Given the description of an element on the screen output the (x, y) to click on. 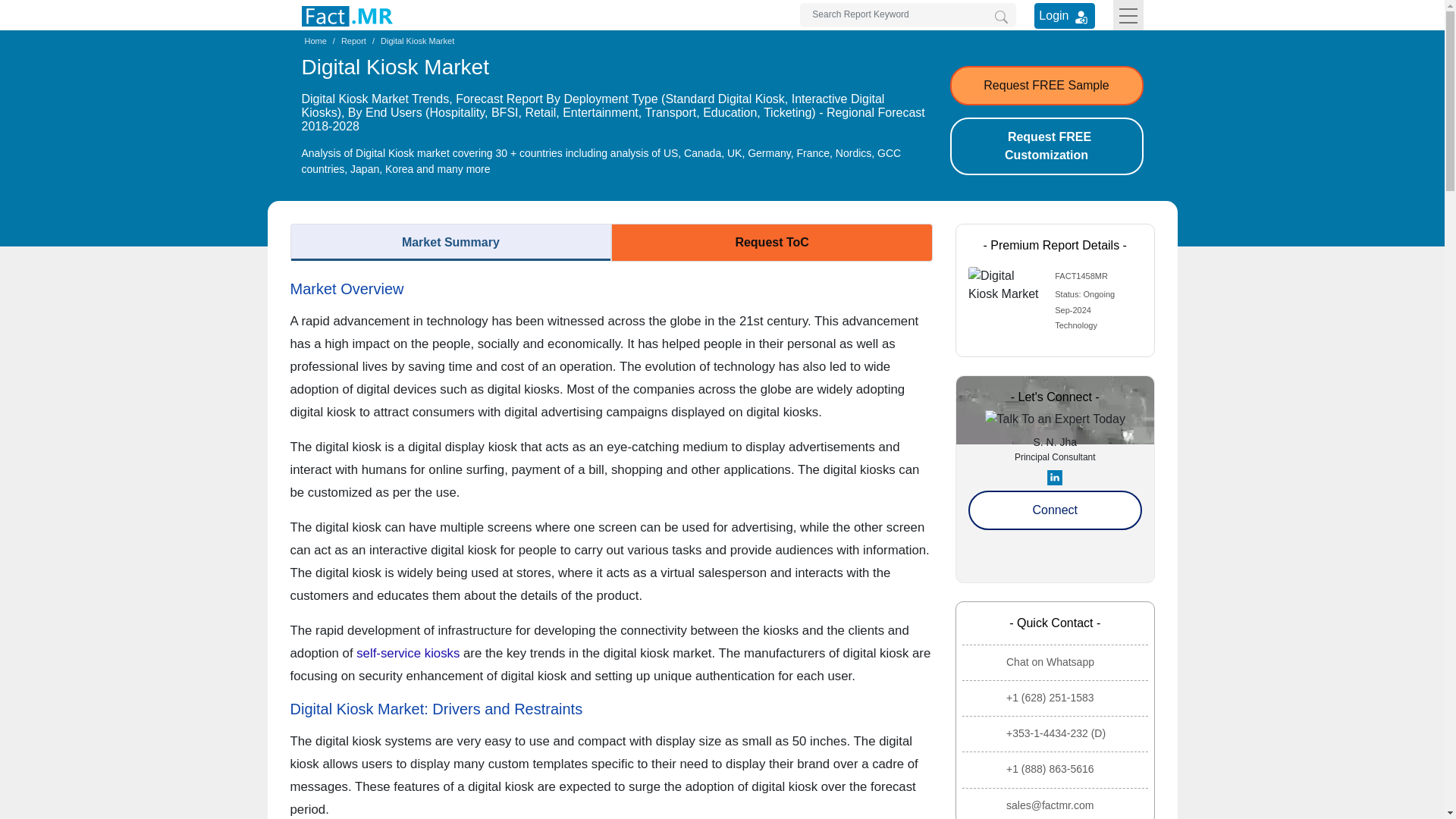
Connect (1054, 509)
self-service kiosks (408, 653)
Fact.MR, Market Research Company (347, 15)
Request ToC (772, 242)
Search (1001, 16)
Technology (1075, 325)
Fact.MR, Market Research Company (347, 16)
Chat on Whatsapp (1057, 662)
Market Summary (450, 242)
Request FREE Sample (1045, 85)
